Given the description of an element on the screen output the (x, y) to click on. 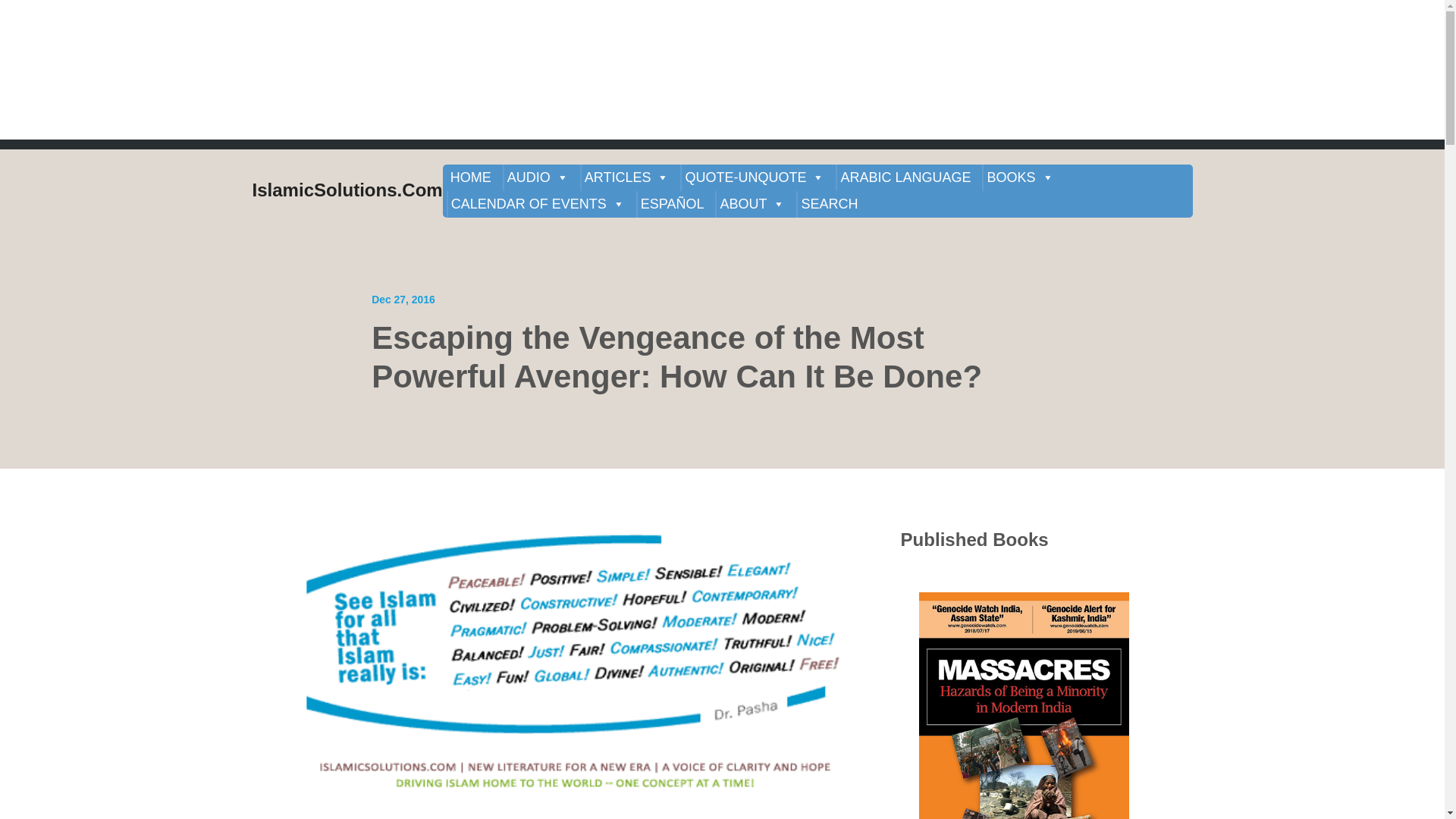
ARTICLES (626, 177)
AUDIO (537, 177)
IslamicSolutions.Com (346, 190)
QUOTE-UNQUOTE (754, 177)
IslamicSolutions.Com (346, 190)
HOME (470, 177)
